Given the description of an element on the screen output the (x, y) to click on. 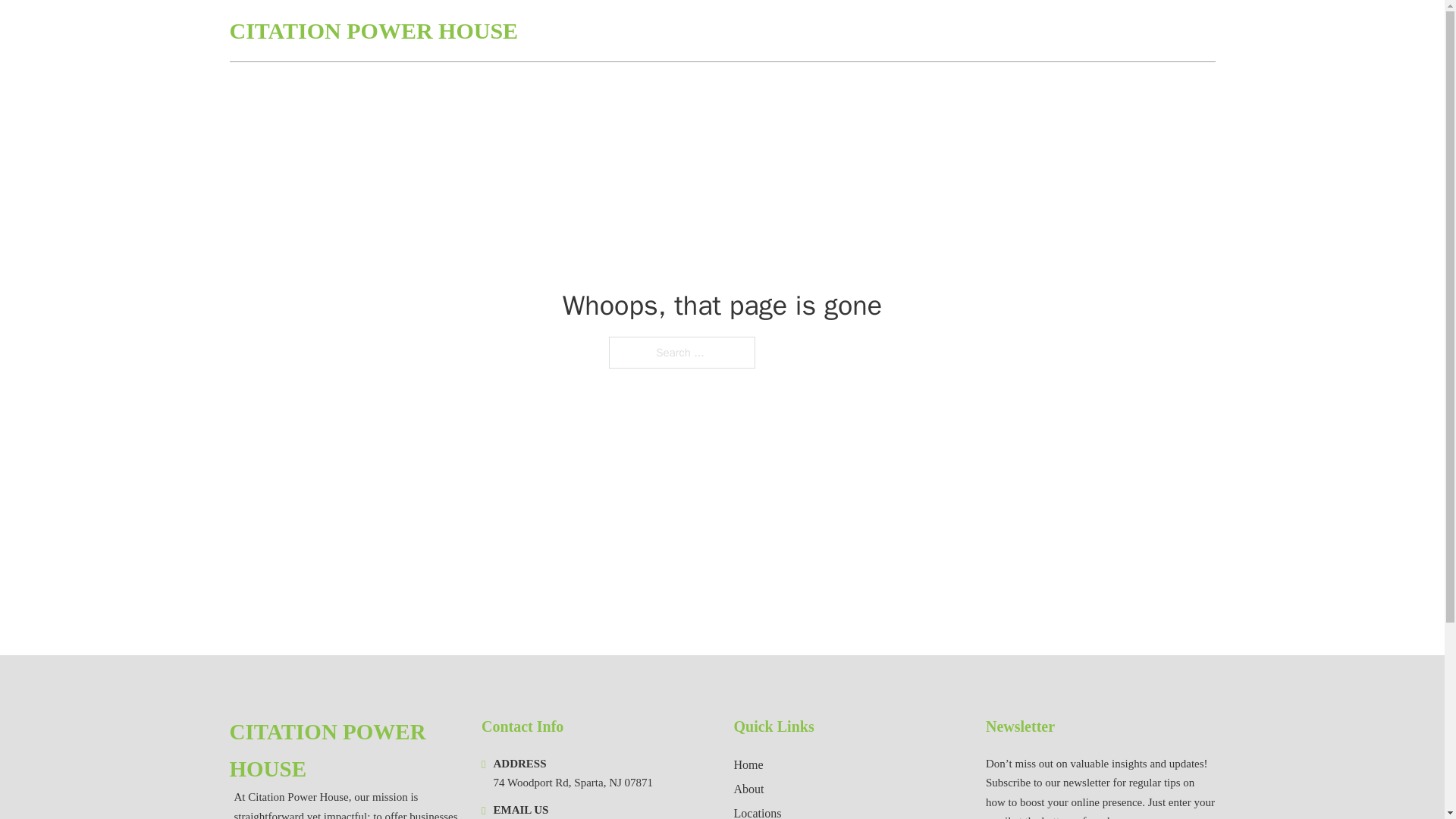
CITATION POWER HOUSE (343, 750)
About (748, 788)
CITATION POWER HOUSE (373, 30)
Locations (757, 811)
LOCATIONS (1105, 31)
Home (747, 764)
HOME (1032, 31)
